Given the description of an element on the screen output the (x, y) to click on. 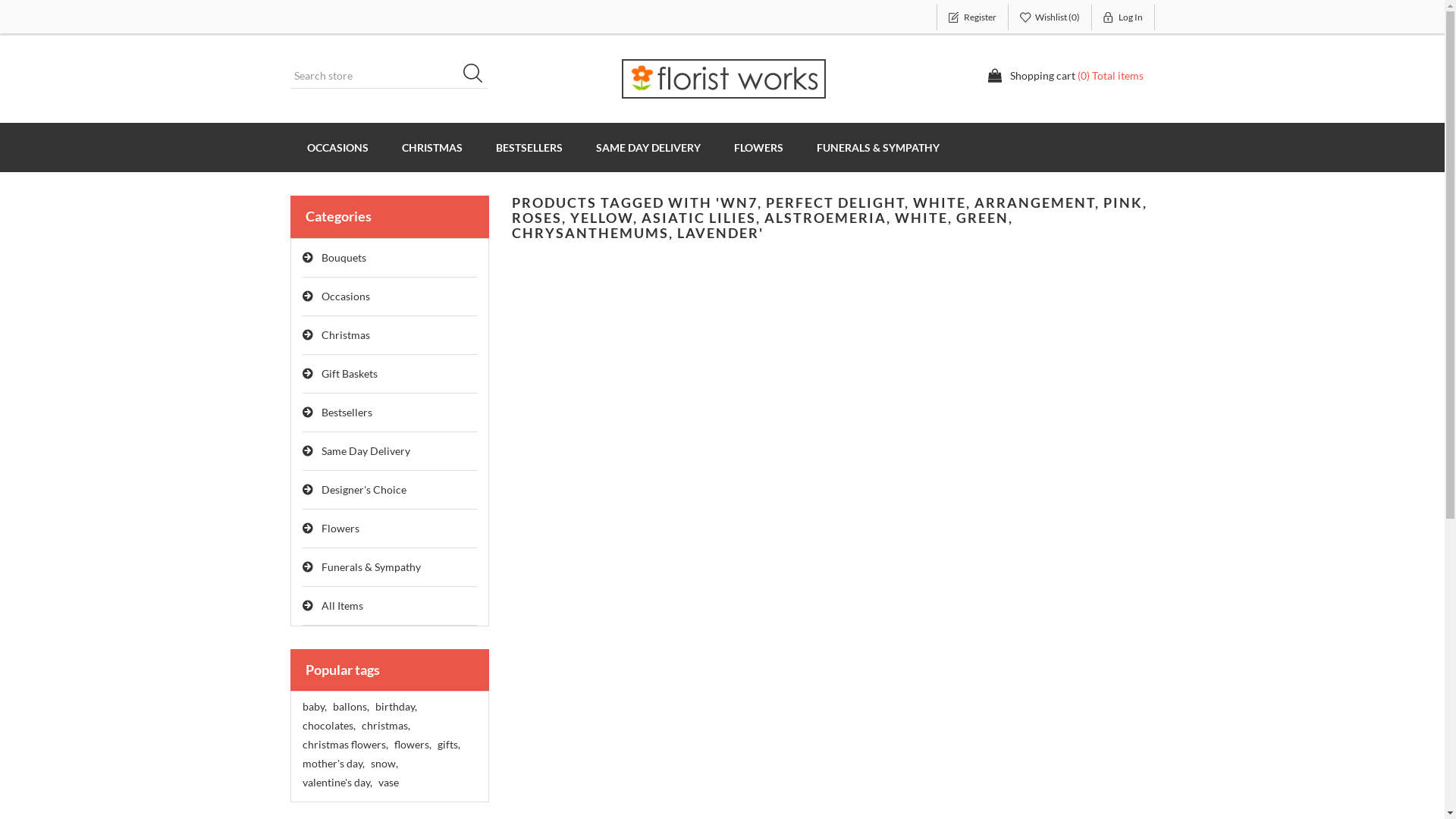
Flowers Element type: text (388, 528)
CHRISTMAS Element type: text (432, 147)
Same Day Delivery Element type: text (388, 451)
chocolates, Element type: text (327, 725)
Register Element type: text (971, 17)
BESTSELLERS Element type: text (529, 147)
SAME DAY DELIVERY Element type: text (648, 147)
snow, Element type: text (383, 763)
gifts, Element type: text (447, 744)
Funerals & Sympathy Element type: text (388, 567)
Designer's Choice Element type: text (388, 489)
FUNERALS & SYMPATHY Element type: text (877, 147)
baby, Element type: text (313, 706)
christmas, Element type: text (384, 725)
OCCASIONS Element type: text (336, 147)
Gift Baskets Element type: text (388, 373)
Log In Element type: text (1123, 17)
birthday, Element type: text (395, 706)
flowers, Element type: text (412, 744)
Occasions Element type: text (388, 296)
vase Element type: text (387, 782)
mother's day, Element type: text (332, 763)
Wishlist (0) Element type: text (1050, 17)
Bestsellers Element type: text (388, 412)
ballons, Element type: text (350, 706)
Bouquets Element type: text (388, 257)
Shopping cart (0) Total items Element type: text (1065, 75)
FLOWERS Element type: text (758, 147)
christmas flowers, Element type: text (344, 744)
Christmas Element type: text (388, 335)
All Items Element type: text (388, 605)
valentine's day, Element type: text (336, 782)
